Given the description of an element on the screen output the (x, y) to click on. 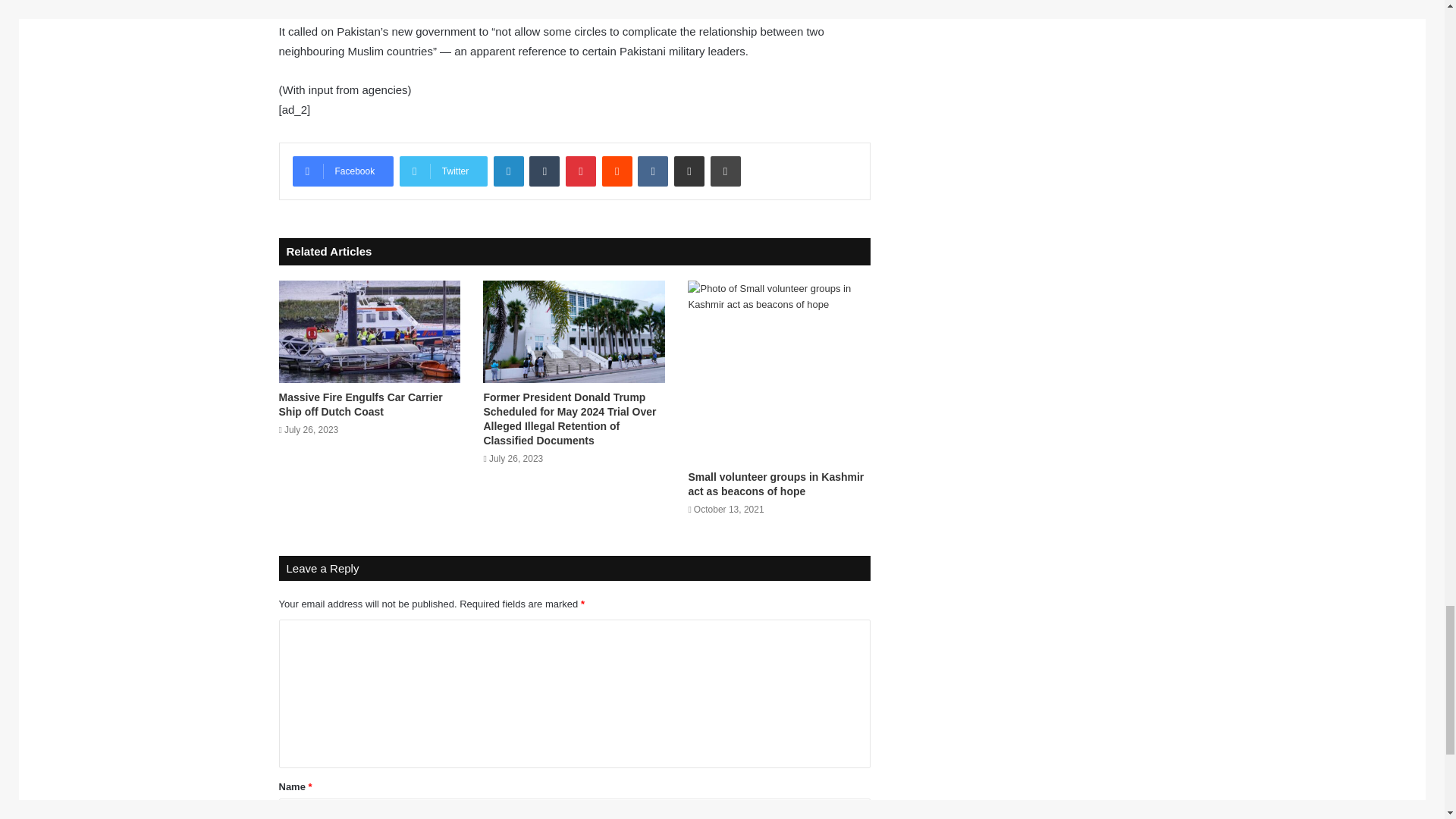
Twitter (442, 171)
Tumblr (544, 171)
Facebook (343, 171)
Print (725, 171)
Pinterest (580, 171)
Small volunteer groups in Kashmir act as beacons of hope (775, 483)
Tumblr (544, 171)
Facebook (343, 171)
Reddit (616, 171)
Pinterest (580, 171)
